Given the description of an element on the screen output the (x, y) to click on. 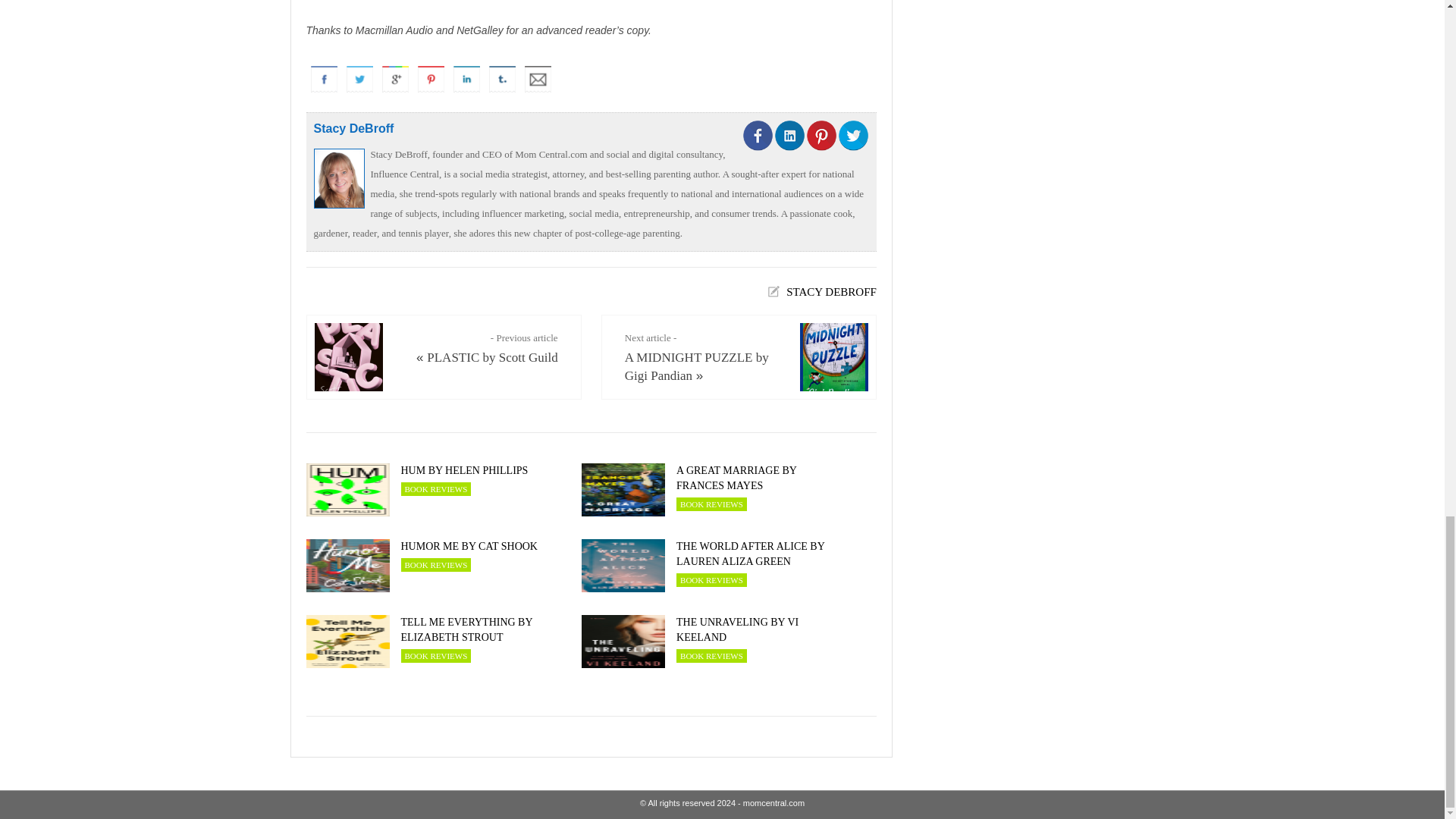
Twitter (358, 79)
Facebook (323, 79)
Pinterest (430, 79)
